Given the description of an element on the screen output the (x, y) to click on. 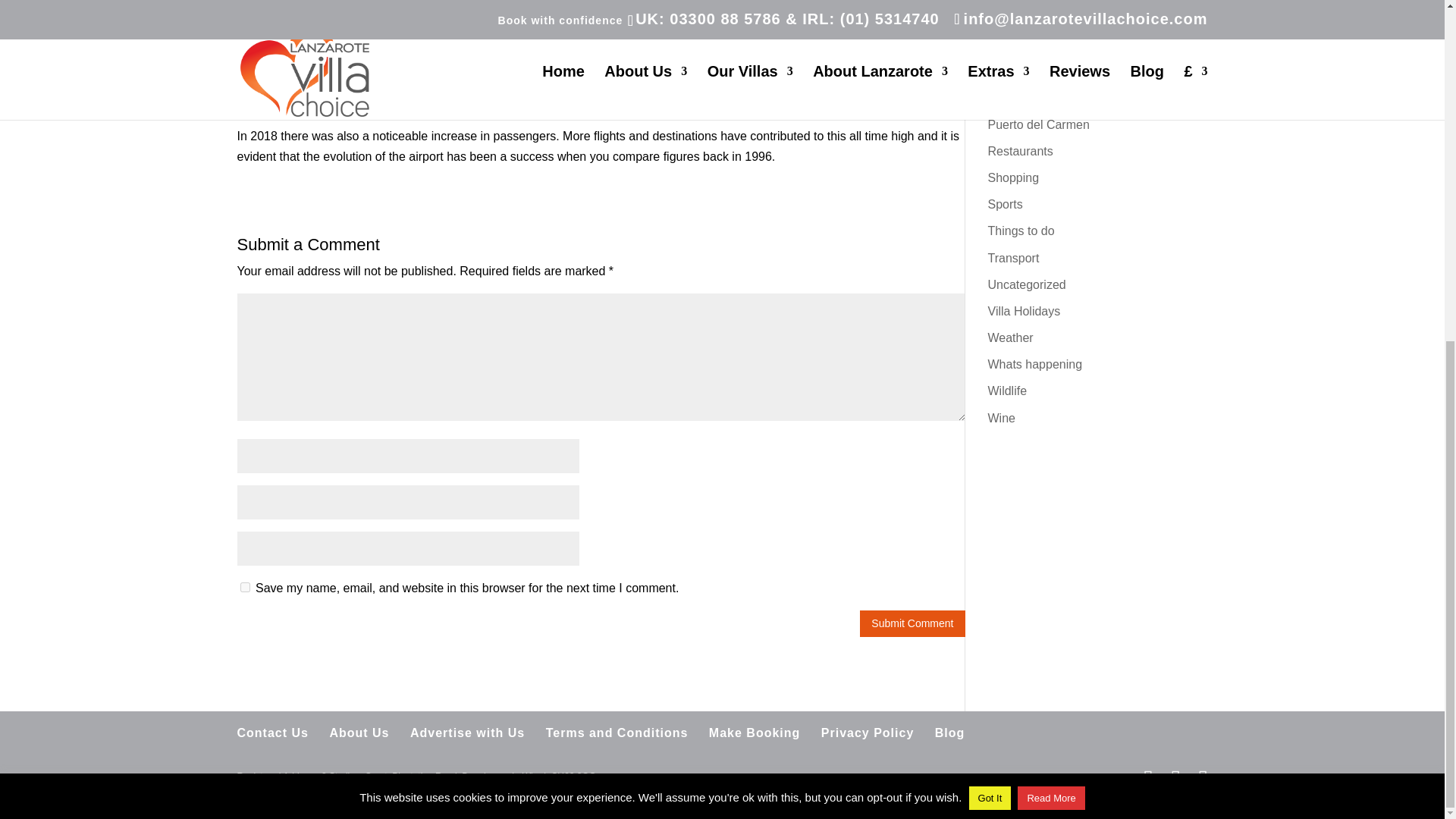
Submit Comment (911, 623)
yes (244, 587)
